Given the description of an element on the screen output the (x, y) to click on. 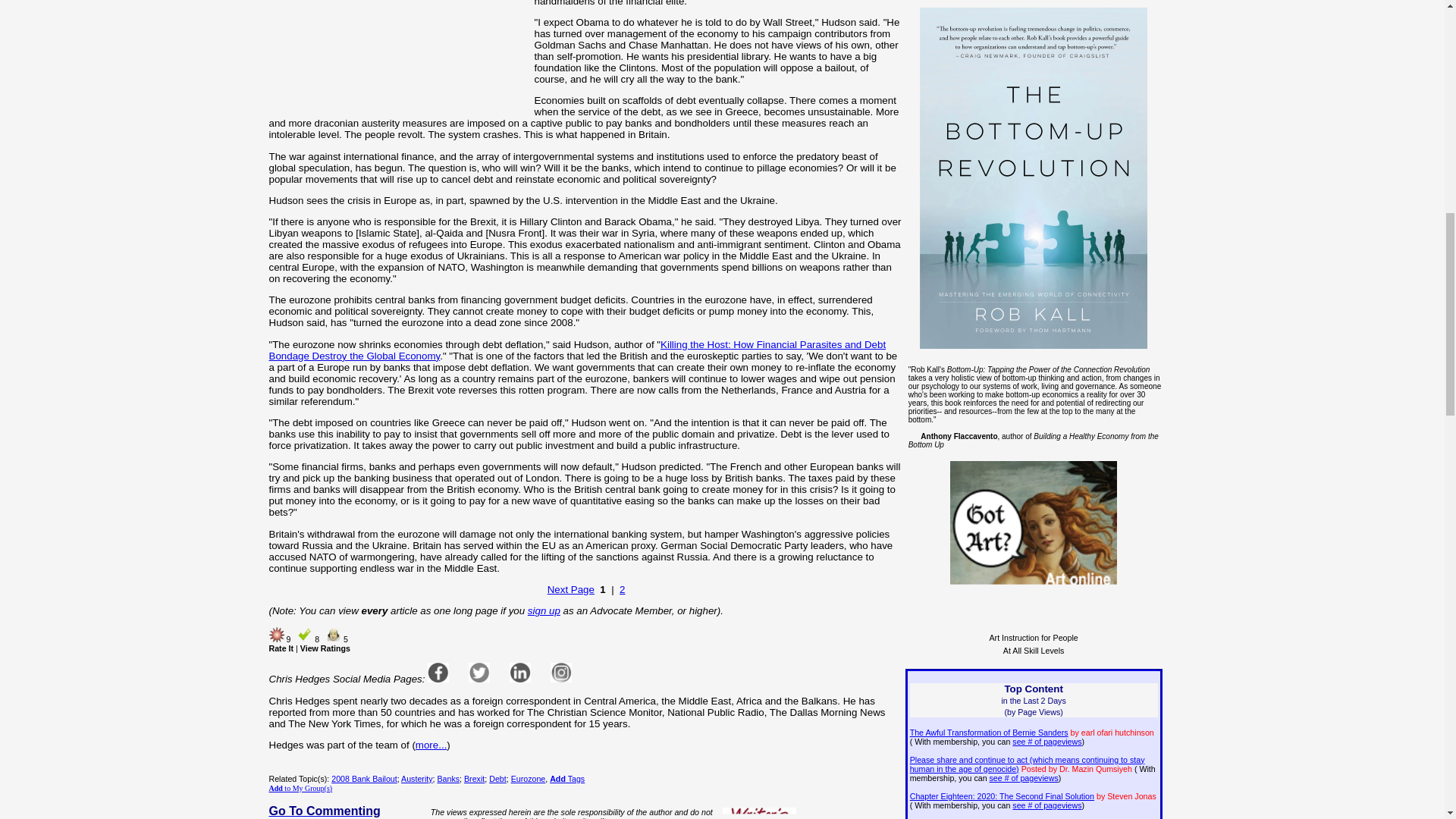
Well Said (333, 634)
Linkedin page url on login Profile not filled in (520, 672)
View Ratings (324, 647)
sign up (543, 610)
Valuable (305, 634)
Writers Guidelines (759, 813)
Instagram page url on login Profile not filled in (561, 672)
Must Read (275, 634)
Facebook page url on login Profile not filled in (438, 672)
more... (430, 745)
Next Page (570, 589)
Advertisement (397, 58)
Twitter page url on login Profile not filled in (478, 672)
Rate It (280, 647)
